Given the description of an element on the screen output the (x, y) to click on. 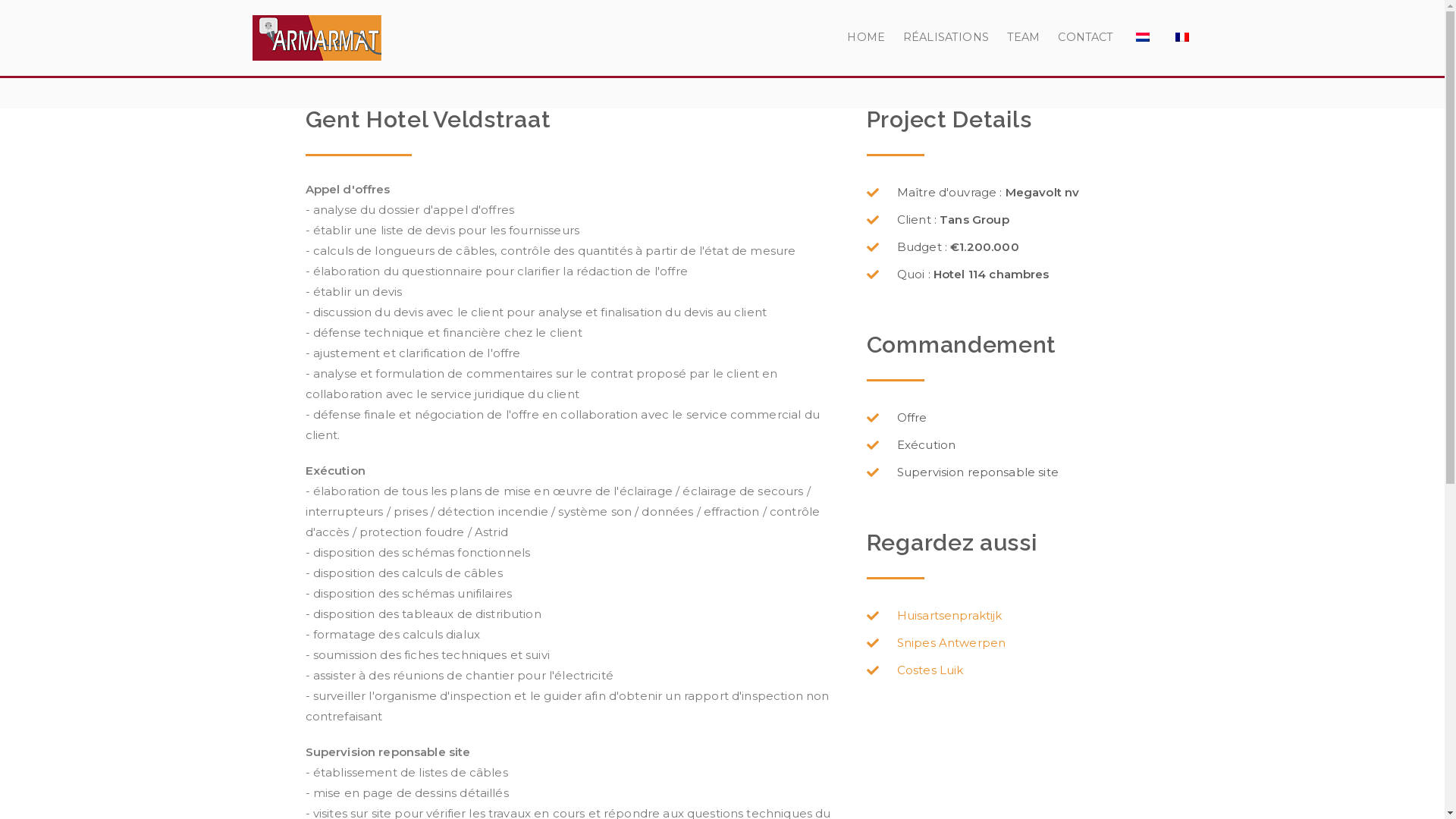
CONTACT Element type: text (1085, 37)
Snipes Antwerpen Element type: text (1010, 642)
Huisartsenpraktijk Element type: text (1010, 615)
HOME Element type: text (865, 37)
Costes Luik Element type: text (1010, 670)
Armarmat Element type: text (476, 56)
Nederlands Element type: hover (1142, 36)
TEAM Element type: text (1023, 37)
